Given the description of an element on the screen output the (x, y) to click on. 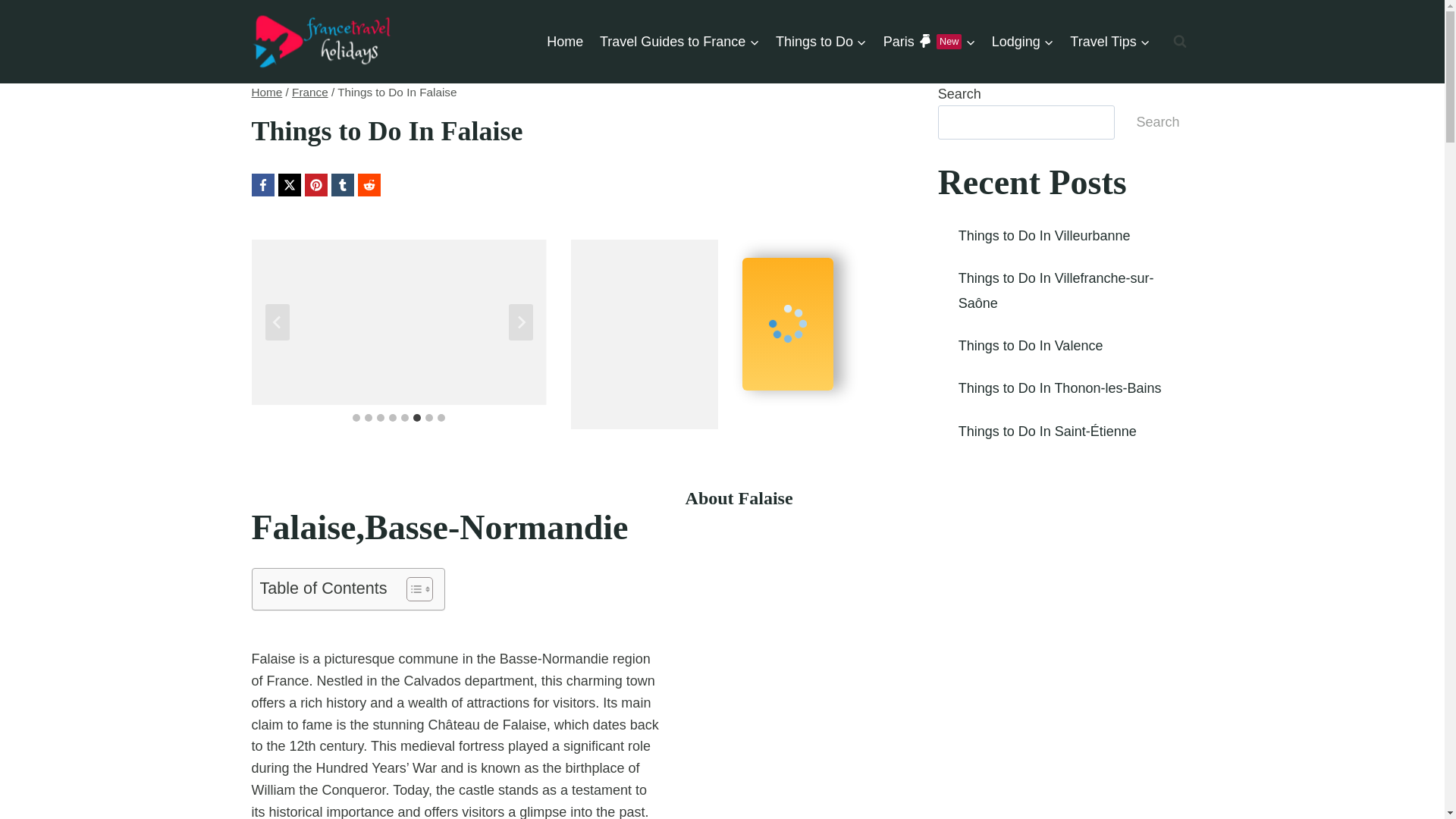
Travel Tips (1110, 41)
Home (266, 91)
Lodging (929, 41)
France (1023, 41)
Travel Guides to France (310, 91)
Things to Do (679, 41)
Home (821, 41)
